Given the description of an element on the screen output the (x, y) to click on. 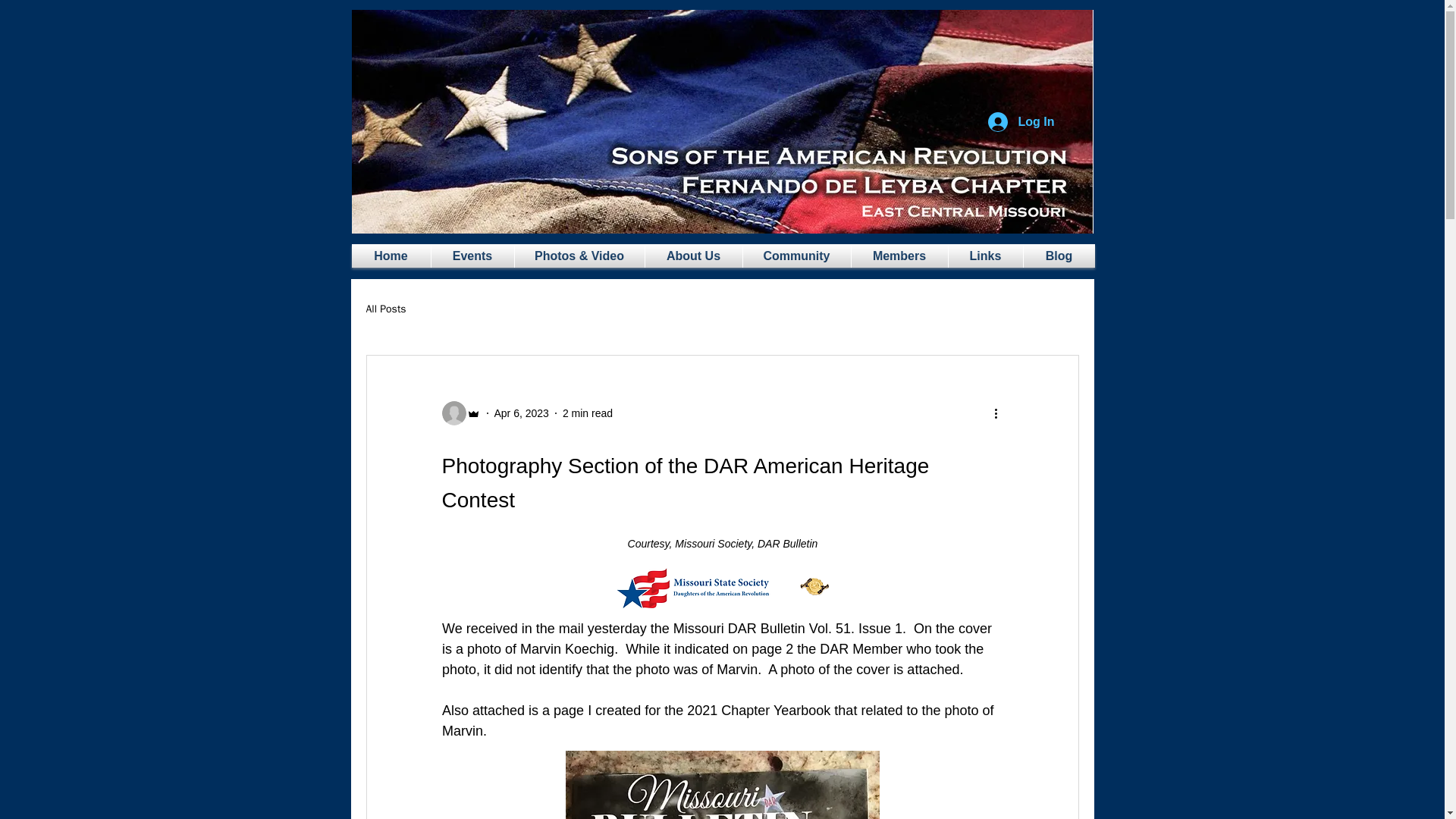
2 min read (587, 412)
All Posts (385, 309)
Log In (1020, 121)
Apr 6, 2023 (521, 412)
Home (391, 255)
Blog (1058, 255)
